Given the description of an element on the screen output the (x, y) to click on. 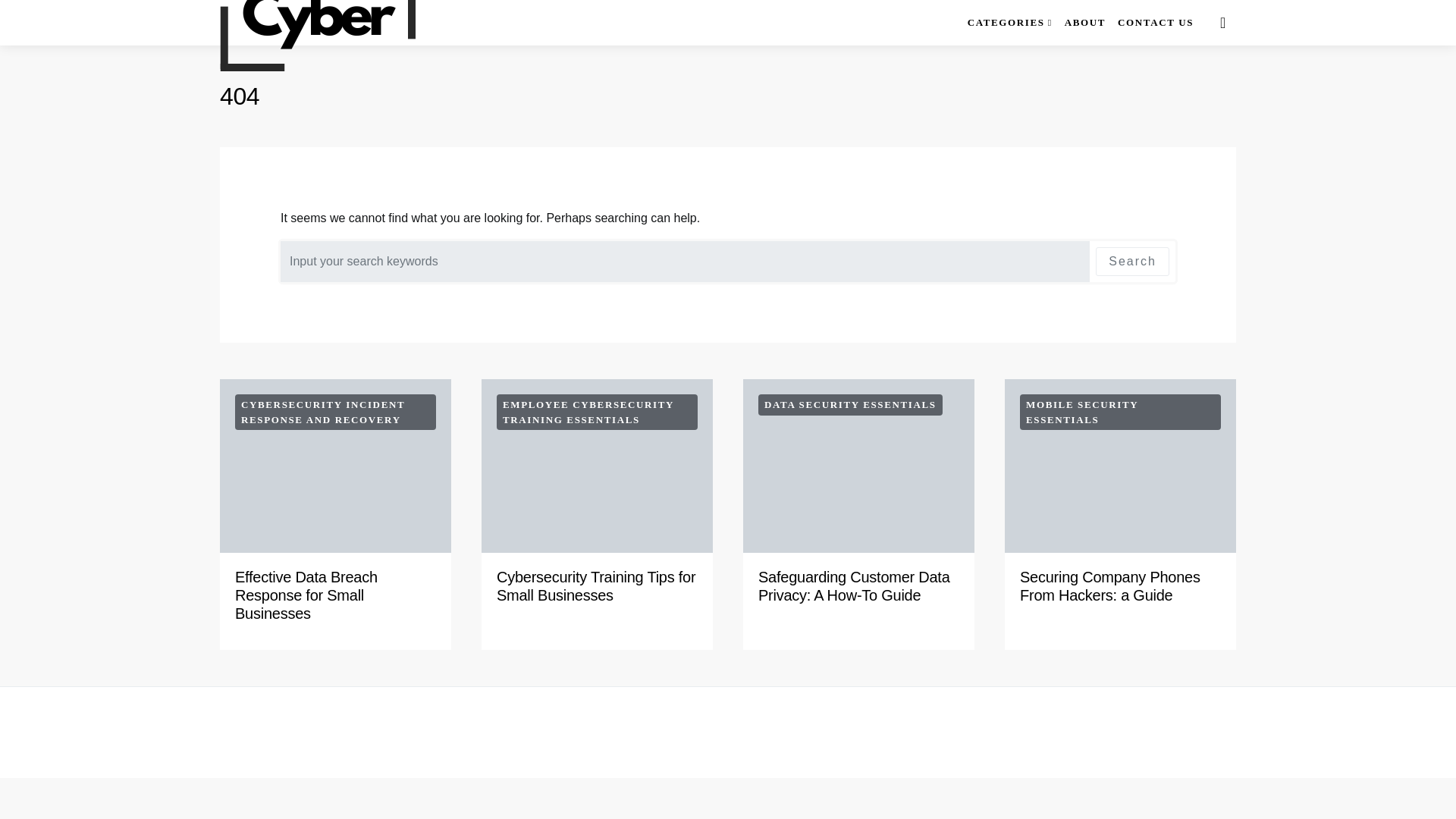
Cybersecurity Training Tips For Small Businesses 2 (597, 465)
Effective Data Breach Response For Small Businesses 1 (335, 465)
Effective Data Breach Response for Small Businesses (305, 594)
CONTACT US (1155, 22)
Search (1132, 261)
CATEGORIES (1009, 22)
EMPLOYEE CYBERSECURITY TRAINING ESSENTIALS (596, 411)
Cybersecurity Training Tips for Small Businesses (595, 585)
Securing Company Phones From Hackers: a Guide (1109, 585)
Safeguarding Customer Data Privacy: A How-To Guide 3 (858, 465)
CYBERSECURITY INCIDENT RESPONSE AND RECOVERY (334, 411)
Securing Company Phones From Hackers: A Guide 4 (1120, 465)
ABOUT (1085, 22)
Effective Data Breach Response for Small Businesses (305, 594)
Safeguarding Customer Data Privacy: A How-To Guide (854, 585)
